Given the description of an element on the screen output the (x, y) to click on. 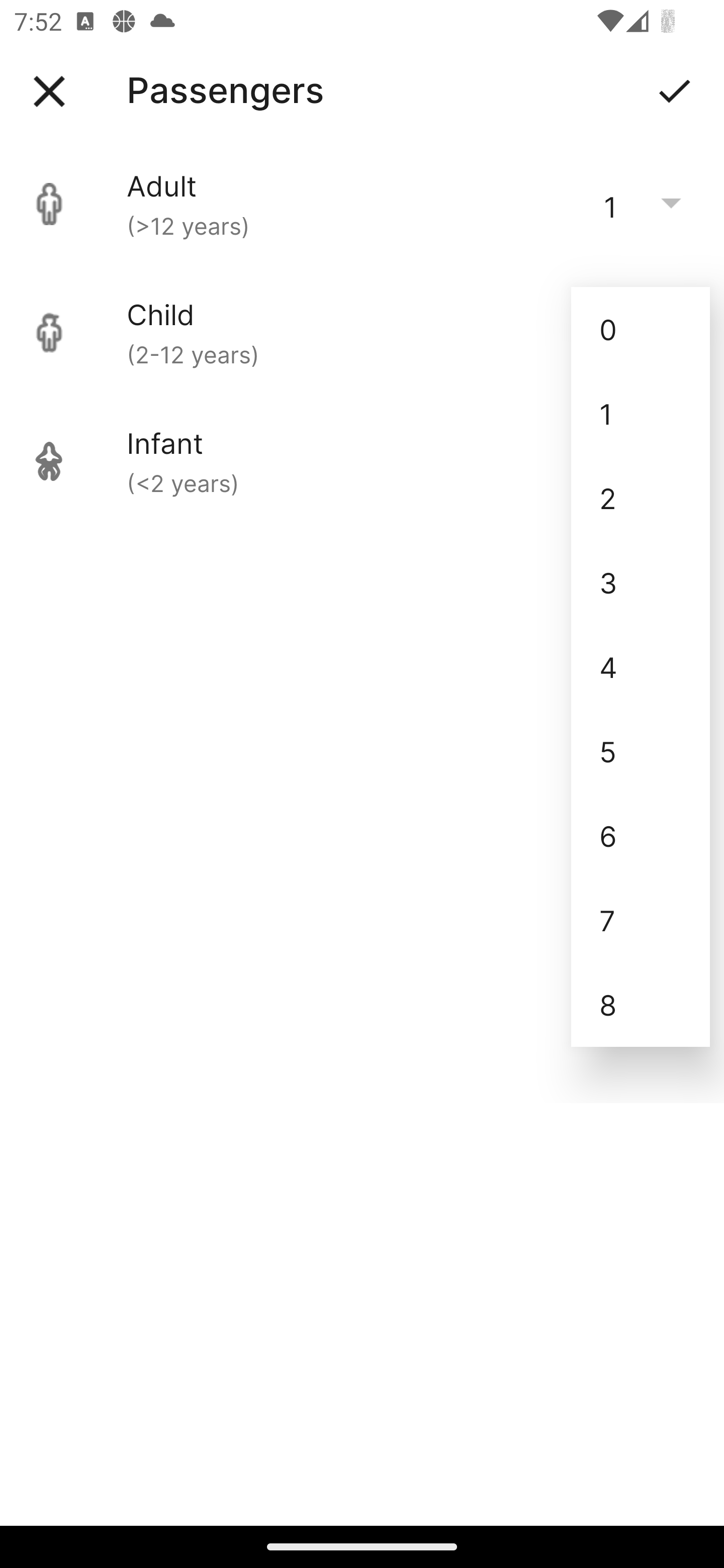
0 (640, 328)
1 (640, 413)
2 (640, 498)
3 (640, 582)
4 (640, 666)
5 (640, 750)
6 (640, 835)
7 (640, 920)
8 (640, 1004)
